Given the description of an element on the screen output the (x, y) to click on. 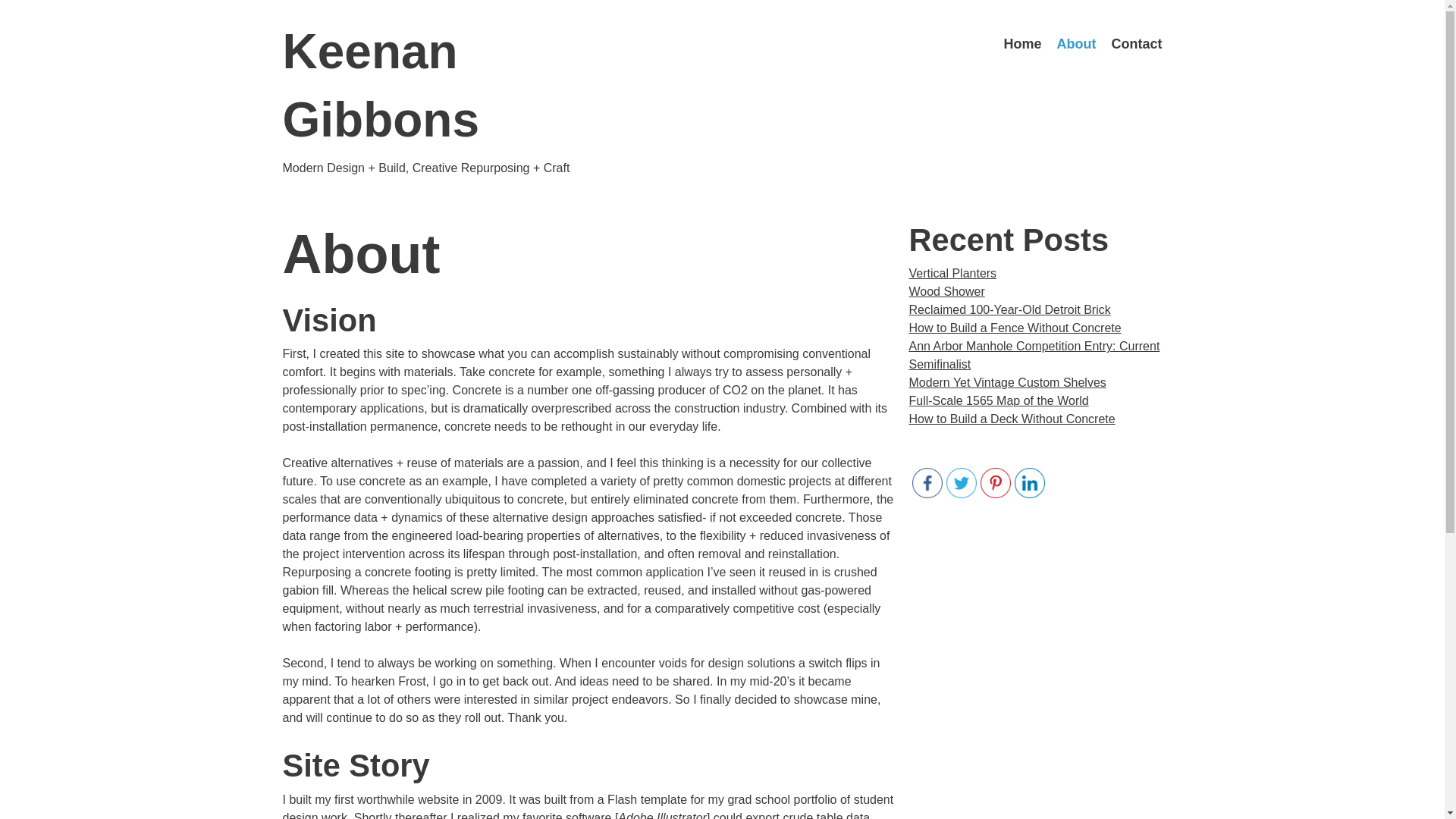
LinkedIn (1029, 482)
Full-Scale 1565 Map of the World (997, 400)
Pinterest (994, 482)
Wood Shower (946, 291)
Skip to content (1028, 43)
Modern Yet Vintage Custom Shelves (1006, 382)
Home (1023, 44)
Reclaimed 100-Year-Old Detroit Brick (1008, 309)
How to Build a Deck Without Concrete (1011, 418)
Vertical Planters (951, 273)
Contact (1136, 44)
Ann Arbor Manhole Competition Entry: Current Semifinalist (1033, 355)
FACEBOOK (926, 482)
Skip to content (1028, 43)
Keenan Gibbons (380, 85)
